Given the description of an element on the screen output the (x, y) to click on. 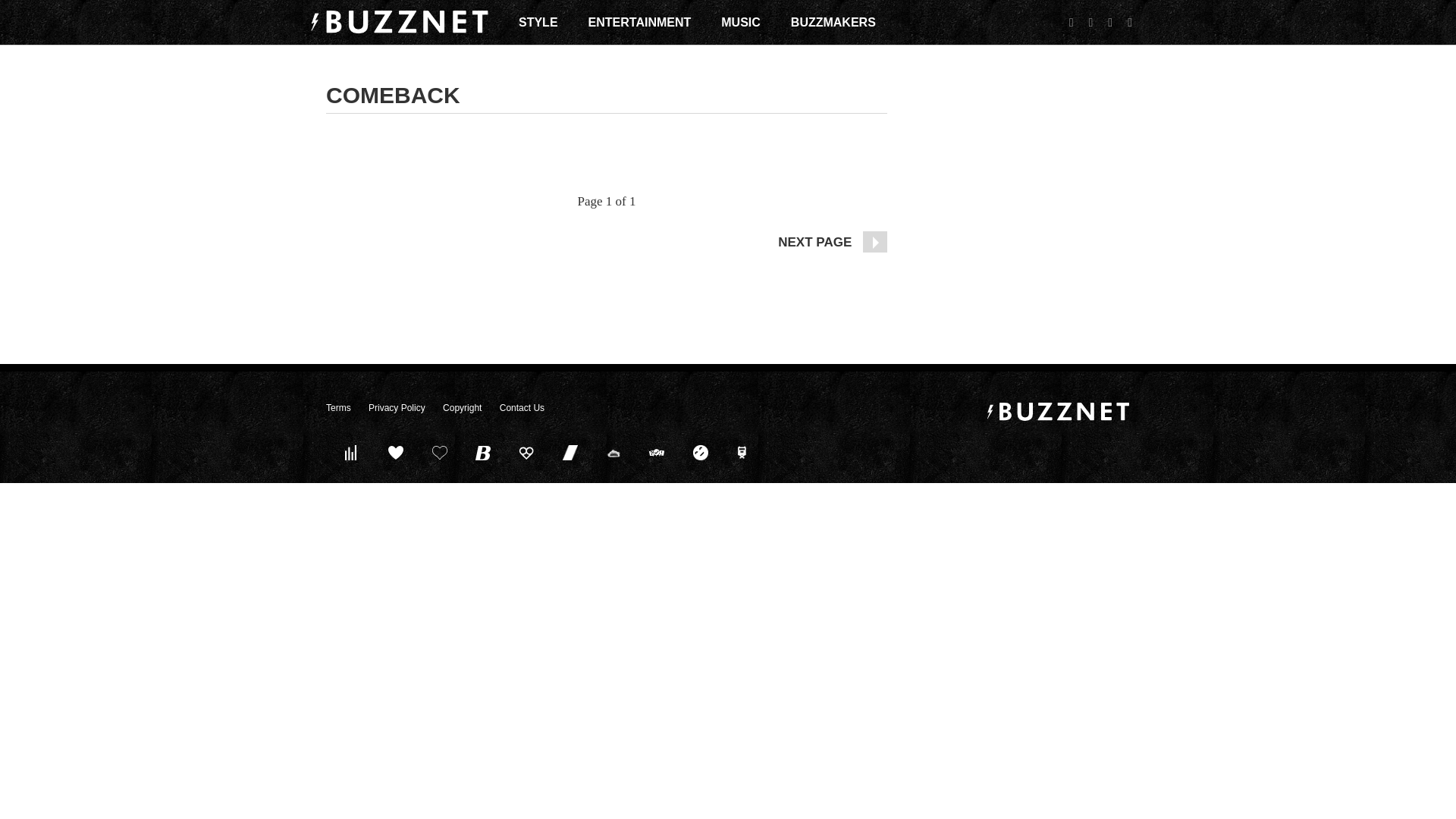
Privacy Policy (396, 407)
Explored Hollywood (743, 452)
Daily Funny (699, 452)
MUSIC (740, 22)
Idolator (395, 452)
Quizscape (656, 452)
BUZZMAKERS (833, 22)
Copyright (461, 407)
Hooch (526, 452)
Trend Chaser (570, 452)
Pure Volume (351, 452)
STYLE (538, 22)
Terms (338, 407)
Post Fun (439, 452)
BleacherBreaker (483, 452)
